Given the description of an element on the screen output the (x, y) to click on. 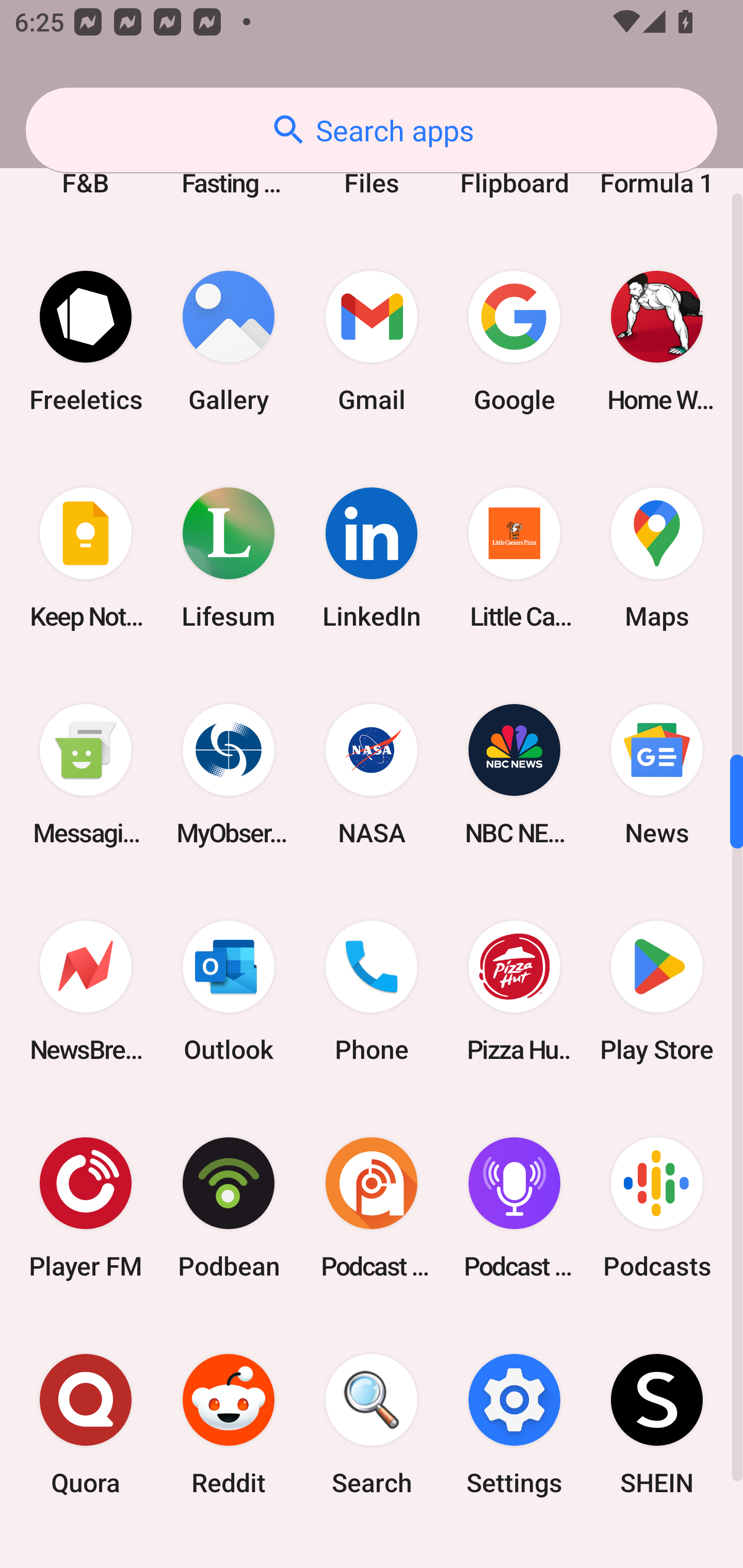
  Search apps (371, 130)
Freeletics (85, 341)
Gallery (228, 341)
Gmail (371, 341)
Google (514, 341)
Home Workout (656, 341)
Keep Notes (85, 558)
Lifesum (228, 558)
LinkedIn (371, 558)
Little Caesars Pizza (514, 558)
Maps (656, 558)
Messaging (85, 774)
MyObservatory (228, 774)
NASA (371, 774)
NBC NEWS (514, 774)
News (656, 774)
NewsBreak (85, 990)
Outlook (228, 990)
Phone (371, 990)
Pizza Hut HK & Macau (514, 990)
Play Store (656, 990)
Player FM (85, 1207)
Podbean (228, 1207)
Podcast Addict (371, 1207)
Podcast Player (514, 1207)
Podcasts (656, 1207)
Quora (85, 1424)
Reddit (228, 1424)
Search (371, 1424)
Settings (514, 1424)
SHEIN (656, 1424)
